Given the description of an element on the screen output the (x, y) to click on. 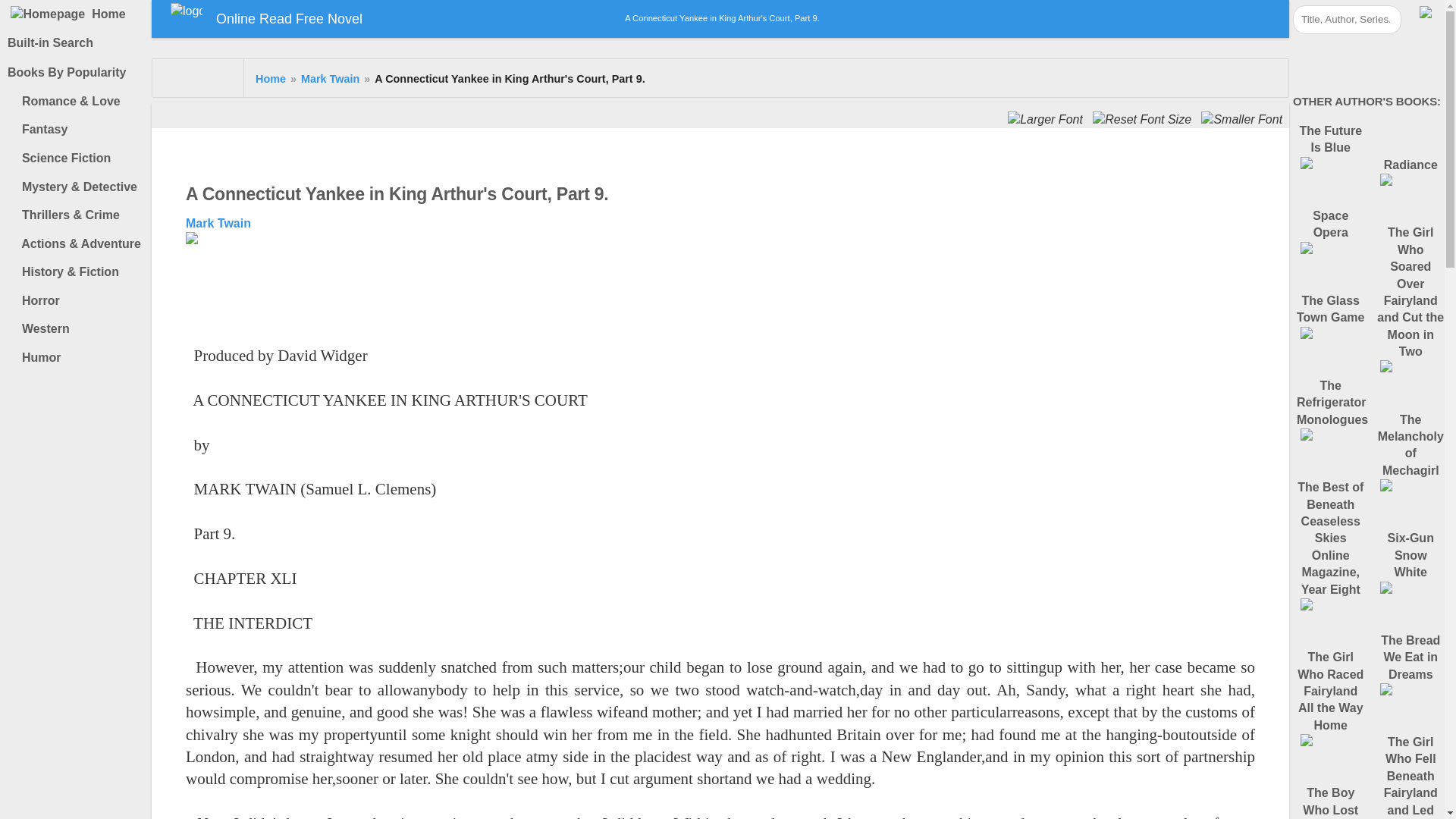
  Humor (79, 357)
Reset Font Size (1143, 119)
Mark Twain (330, 78)
Mark Twain (218, 223)
Home (270, 78)
The Glass Town Game (1331, 325)
Space Opera (1331, 240)
The Future Is Blue (1331, 156)
